Given the description of an element on the screen output the (x, y) to click on. 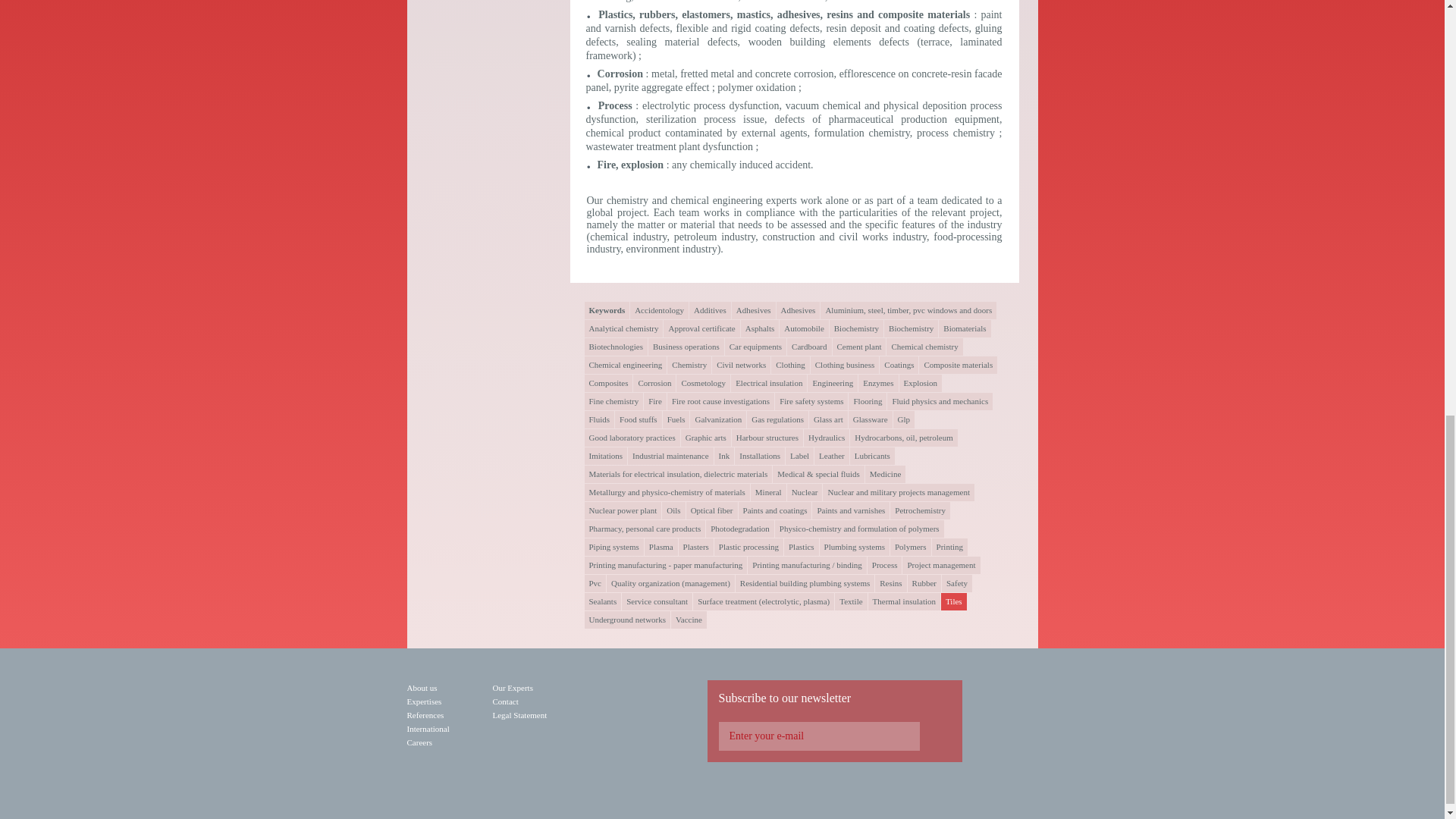
Adhesives (798, 310)
Adhesives (754, 310)
Automobile (803, 328)
Approval certificate (701, 328)
Aluminium, steel, timber, pvc windows and doors (908, 310)
Biochemistry (856, 328)
Asphalts (759, 328)
Analytical chemistry (622, 328)
Accidentology (659, 310)
Additives (709, 310)
